Given the description of an element on the screen output the (x, y) to click on. 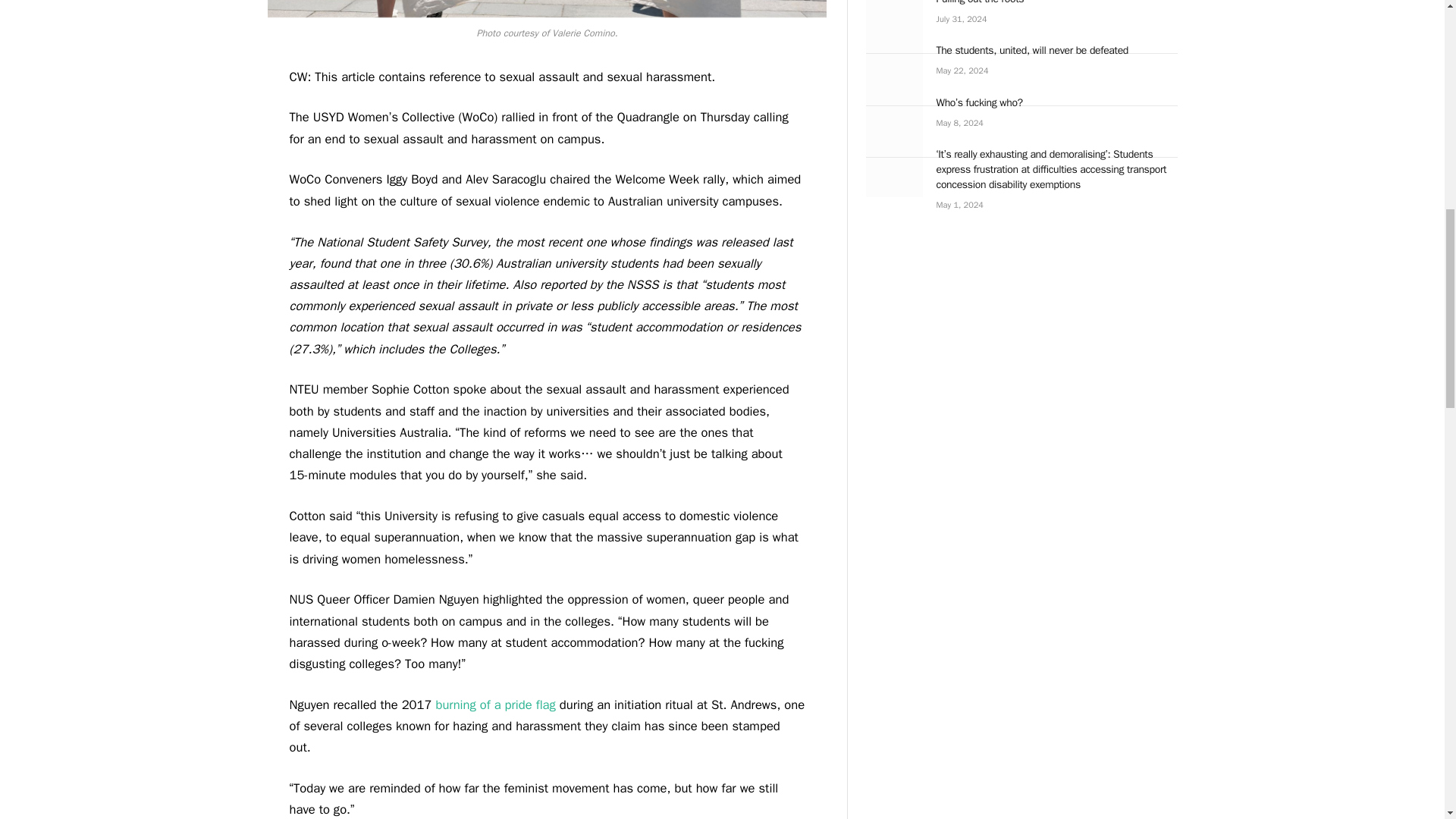
Students demand a rape free campus at Welcome Week rally (546, 8)
